Given the description of an element on the screen output the (x, y) to click on. 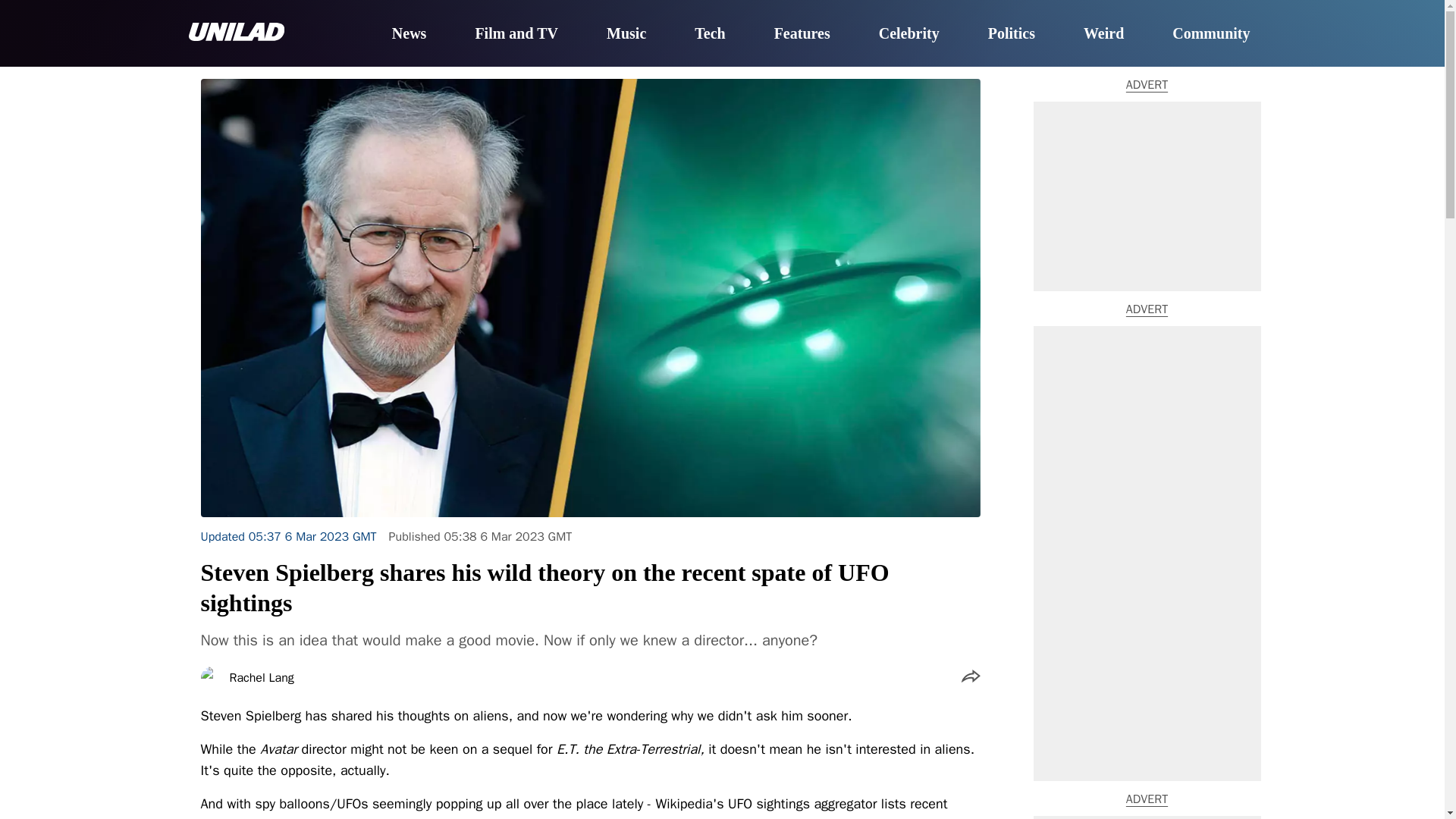
Politics (1011, 34)
Features (801, 34)
Tech (709, 34)
Community (1210, 34)
Celebrity (909, 34)
Rachel Lang (261, 677)
Film and TV (515, 34)
News (408, 34)
Weird (1103, 34)
Music (626, 34)
